Given the description of an element on the screen output the (x, y) to click on. 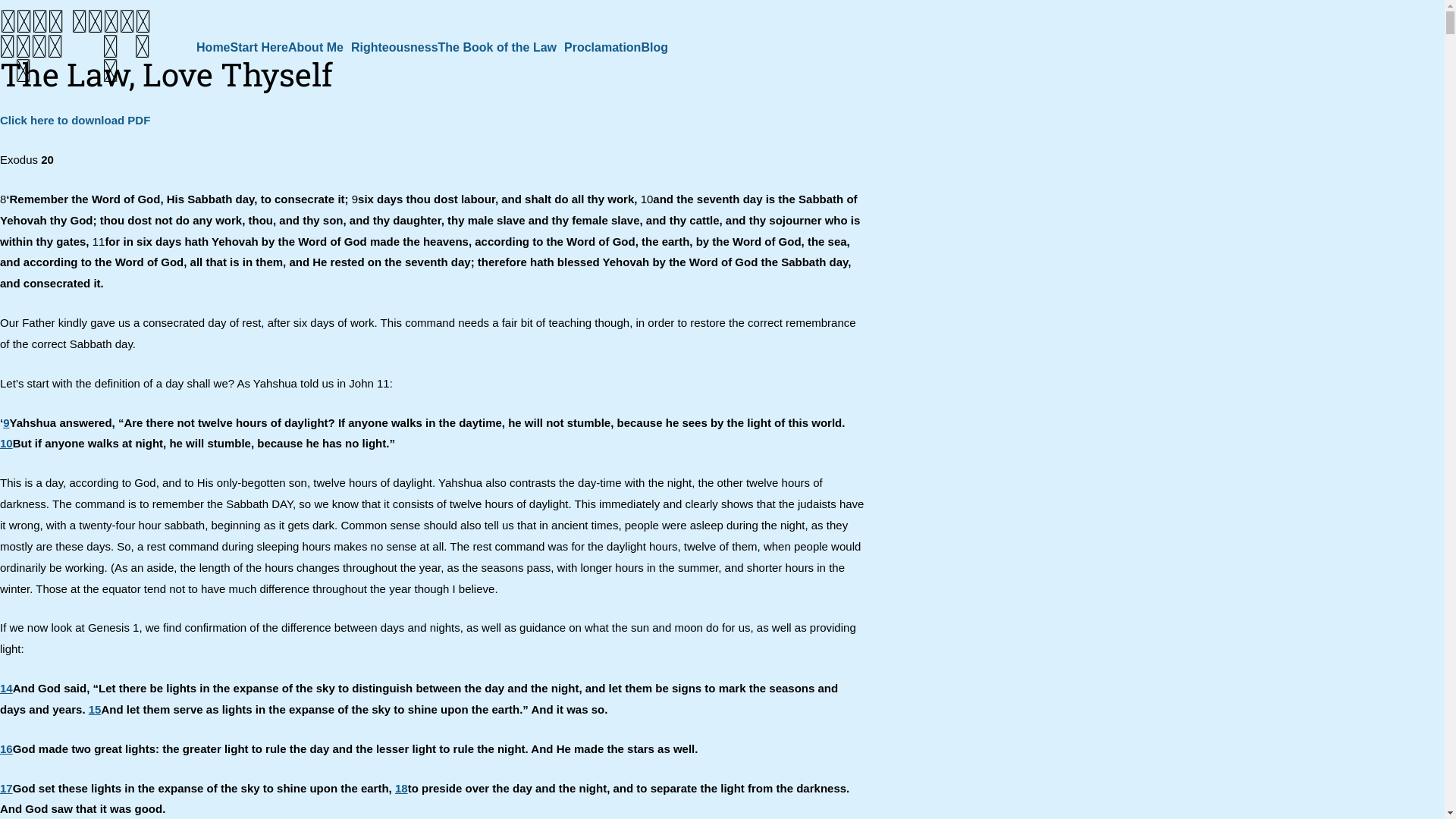
14 Element type: text (6, 687)
10 Element type: text (6, 442)
Blog Element type: text (654, 47)
18 Element type: text (401, 787)
Righteousness Element type: text (394, 47)
15 Element type: text (94, 708)
16 Element type: text (6, 748)
Home Element type: text (212, 47)
The Book of the Law Element type: text (501, 47)
Proclamation Element type: text (602, 47)
Click here to download PDF Element type: text (75, 119)
9 Element type: text (6, 422)
Start Here Element type: text (259, 47)
17 Element type: text (6, 787)
About Me Element type: text (319, 47)
